Given the description of an element on the screen output the (x, y) to click on. 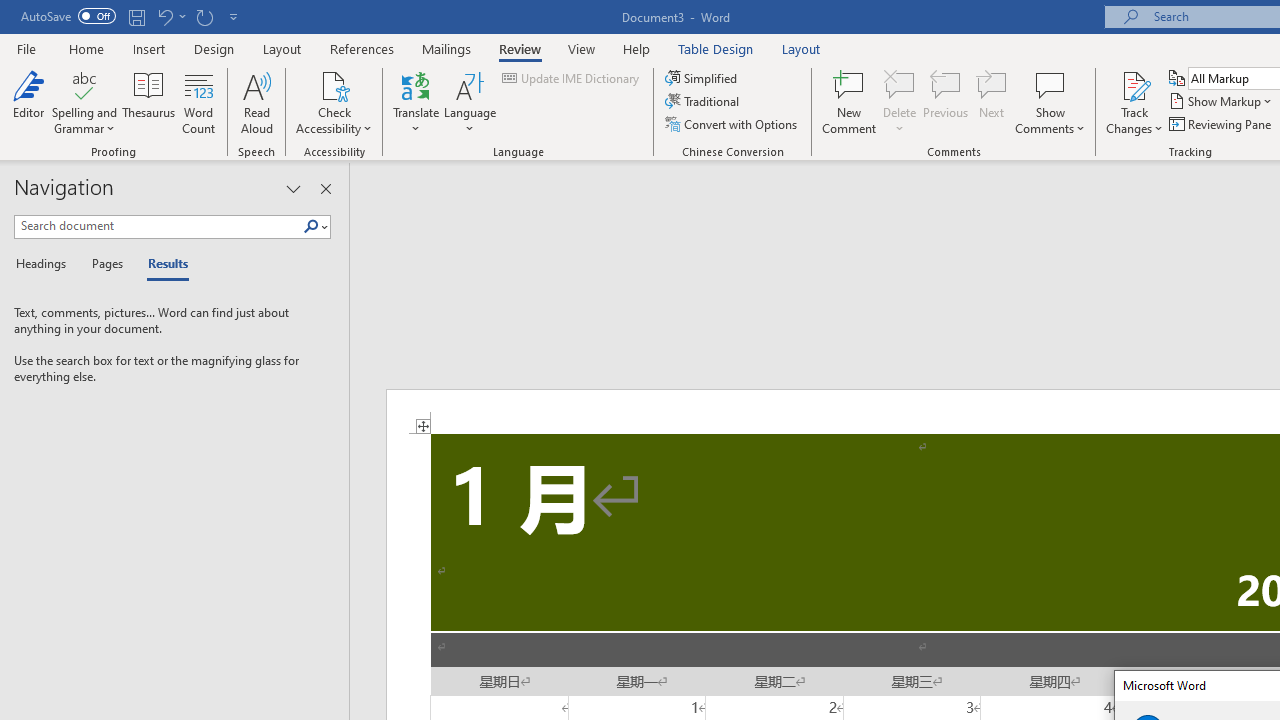
Translate (415, 102)
Reviewing Pane (1221, 124)
Delete (900, 102)
Simplified (702, 78)
Read Aloud (256, 102)
